Given the description of an element on the screen output the (x, y) to click on. 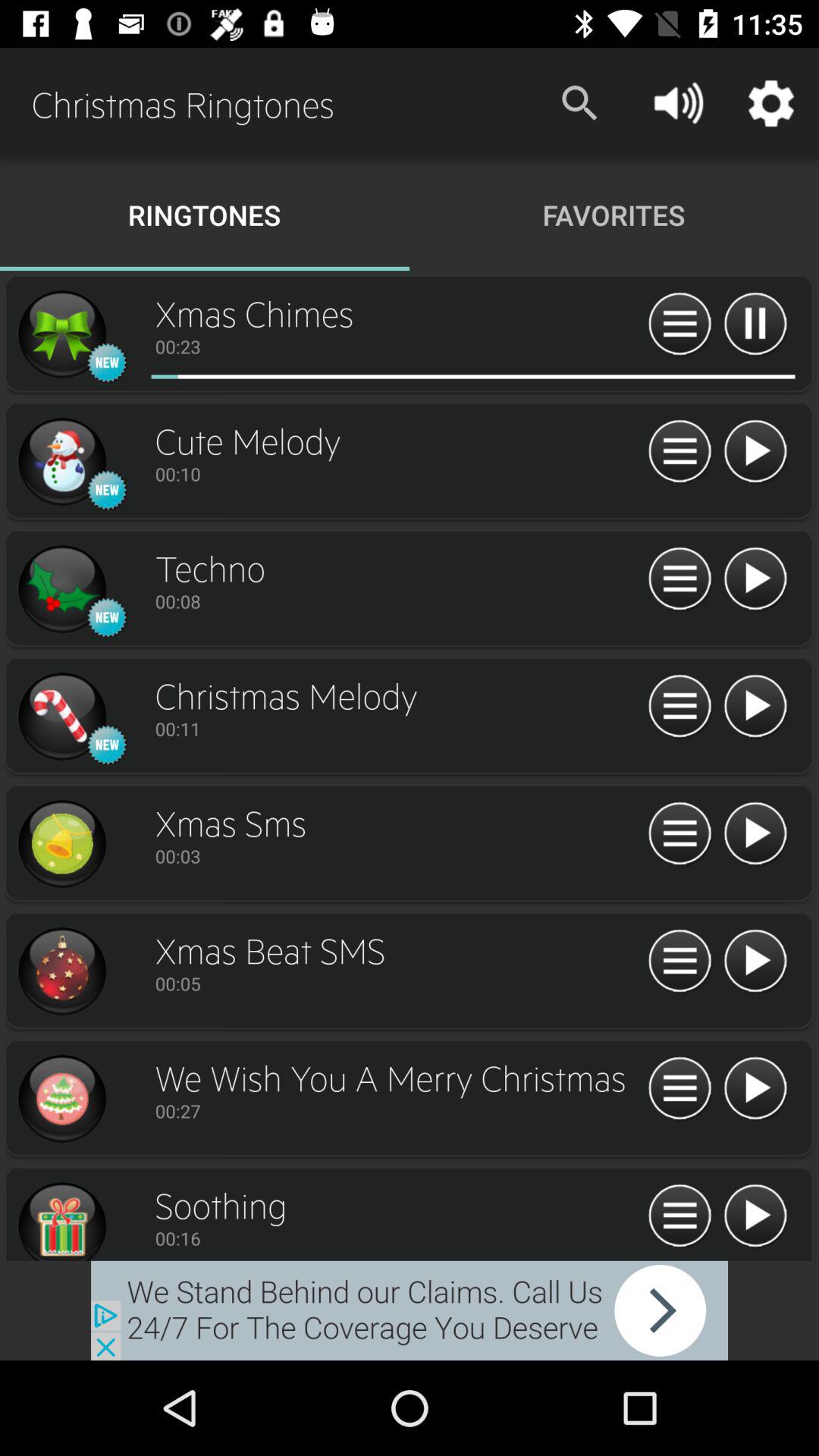
play (755, 1088)
